Given the description of an element on the screen output the (x, y) to click on. 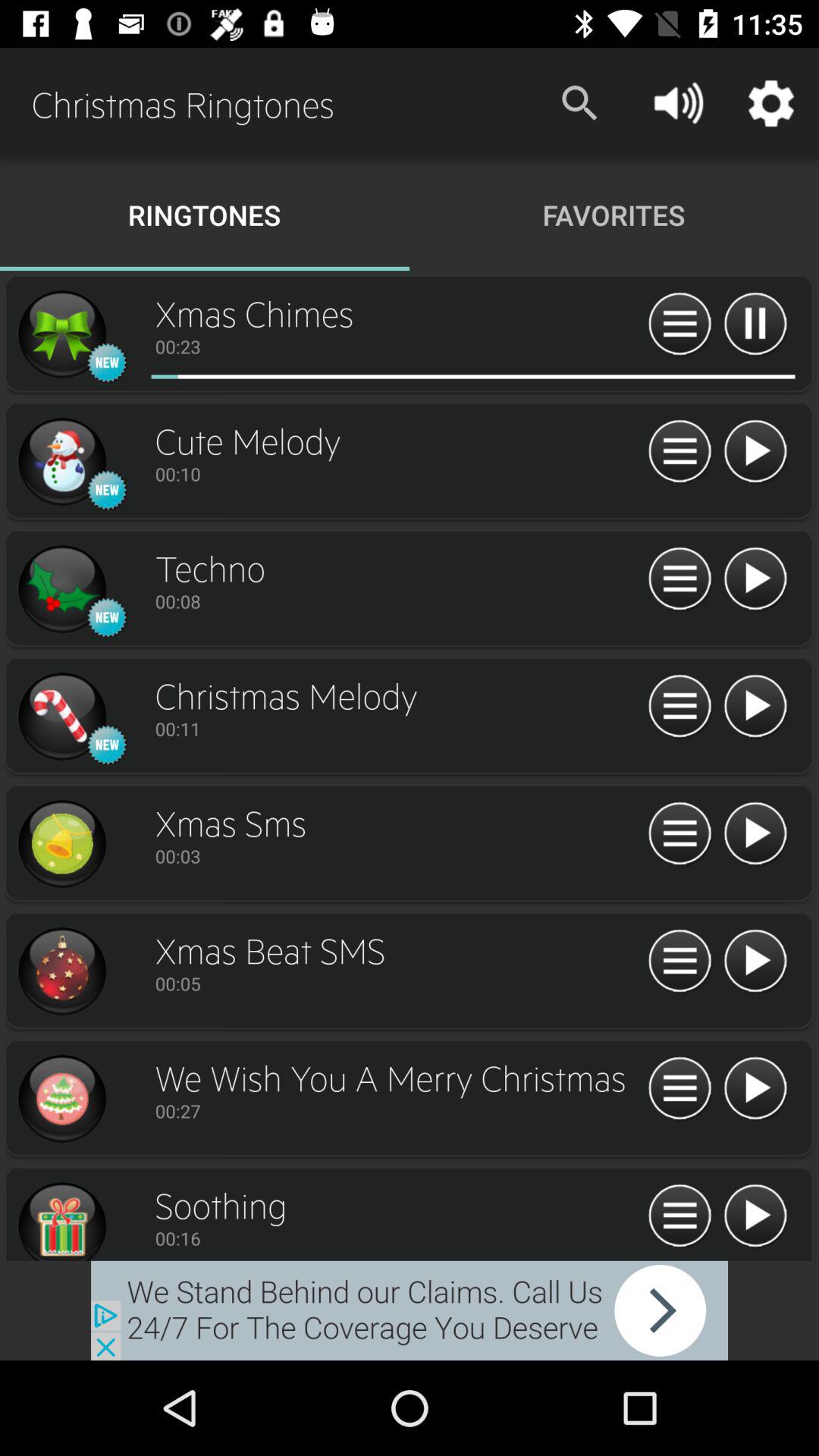
play (755, 1088)
